Given the description of an element on the screen output the (x, y) to click on. 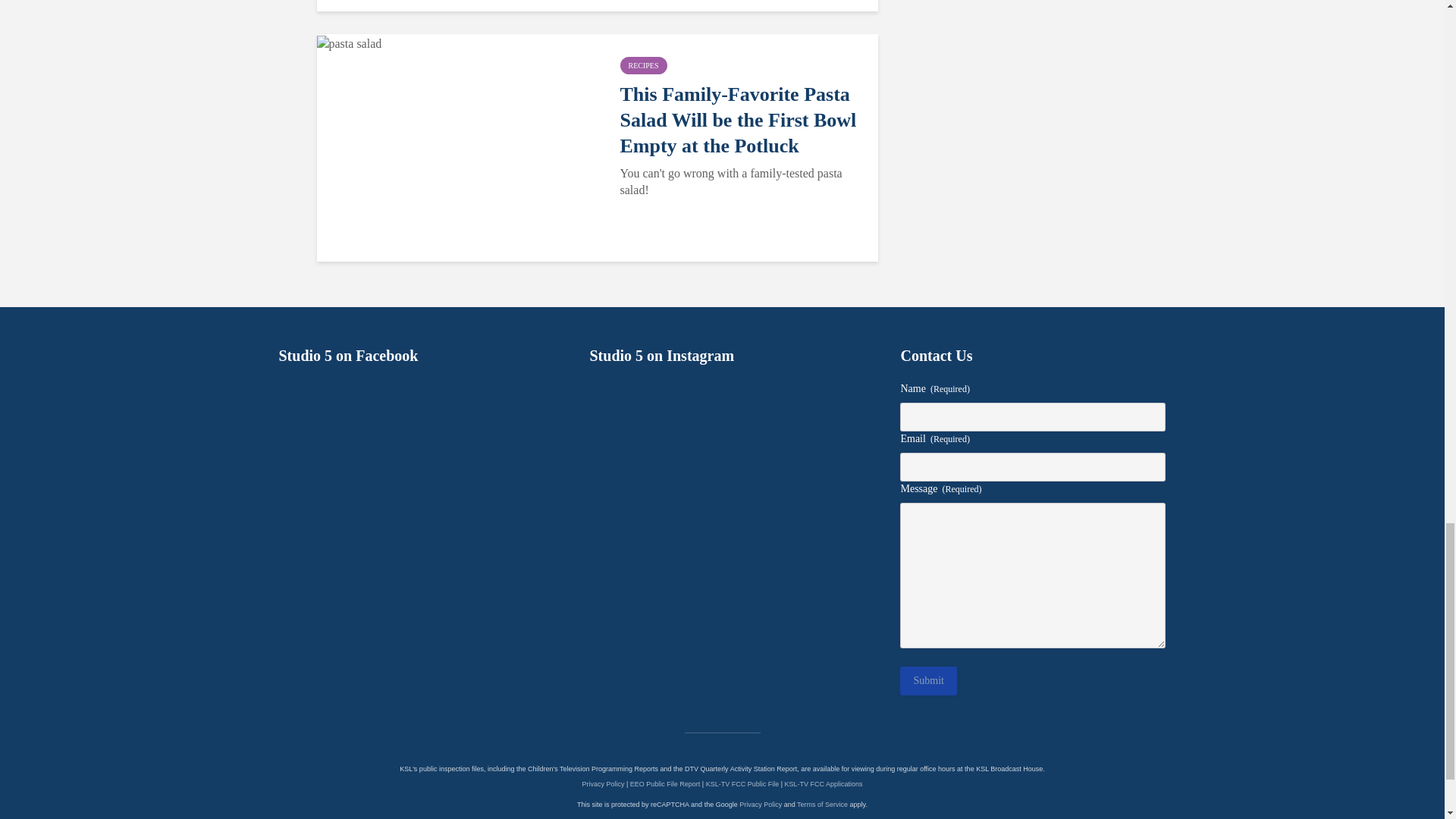
RECIPES (643, 65)
Submit (927, 680)
